Given the description of an element on the screen output the (x, y) to click on. 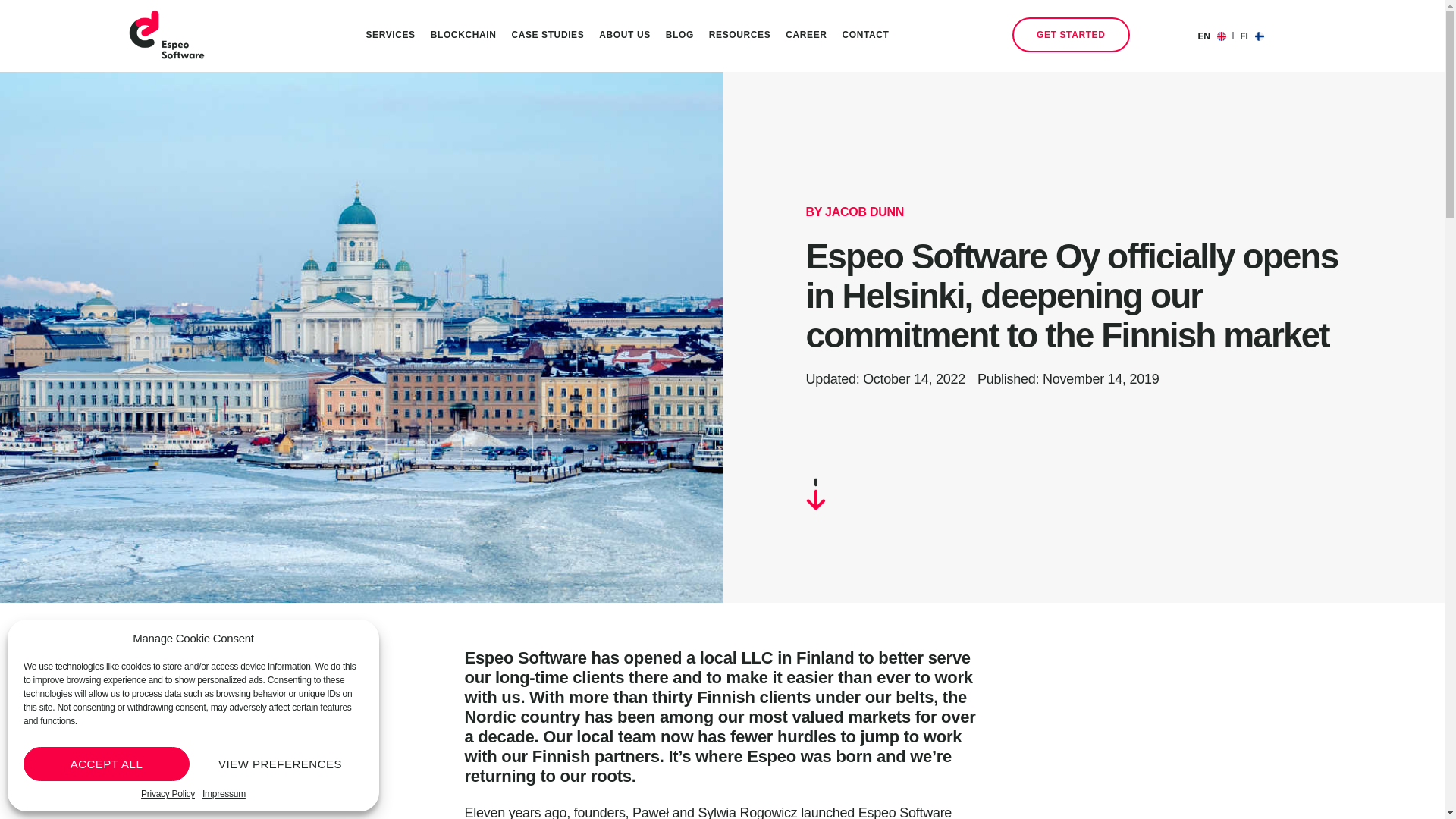
RESOURCES (739, 35)
BLOCKCHAIN (463, 35)
BY JACOB DUNN (854, 212)
GET STARTED (1070, 34)
Privacy Policy (168, 793)
ACCEPT ALL (106, 763)
SERVICES (390, 35)
VIEW PREFERENCES (279, 763)
CASE STUDIES (547, 35)
ABOUT US (624, 35)
